Given the description of an element on the screen output the (x, y) to click on. 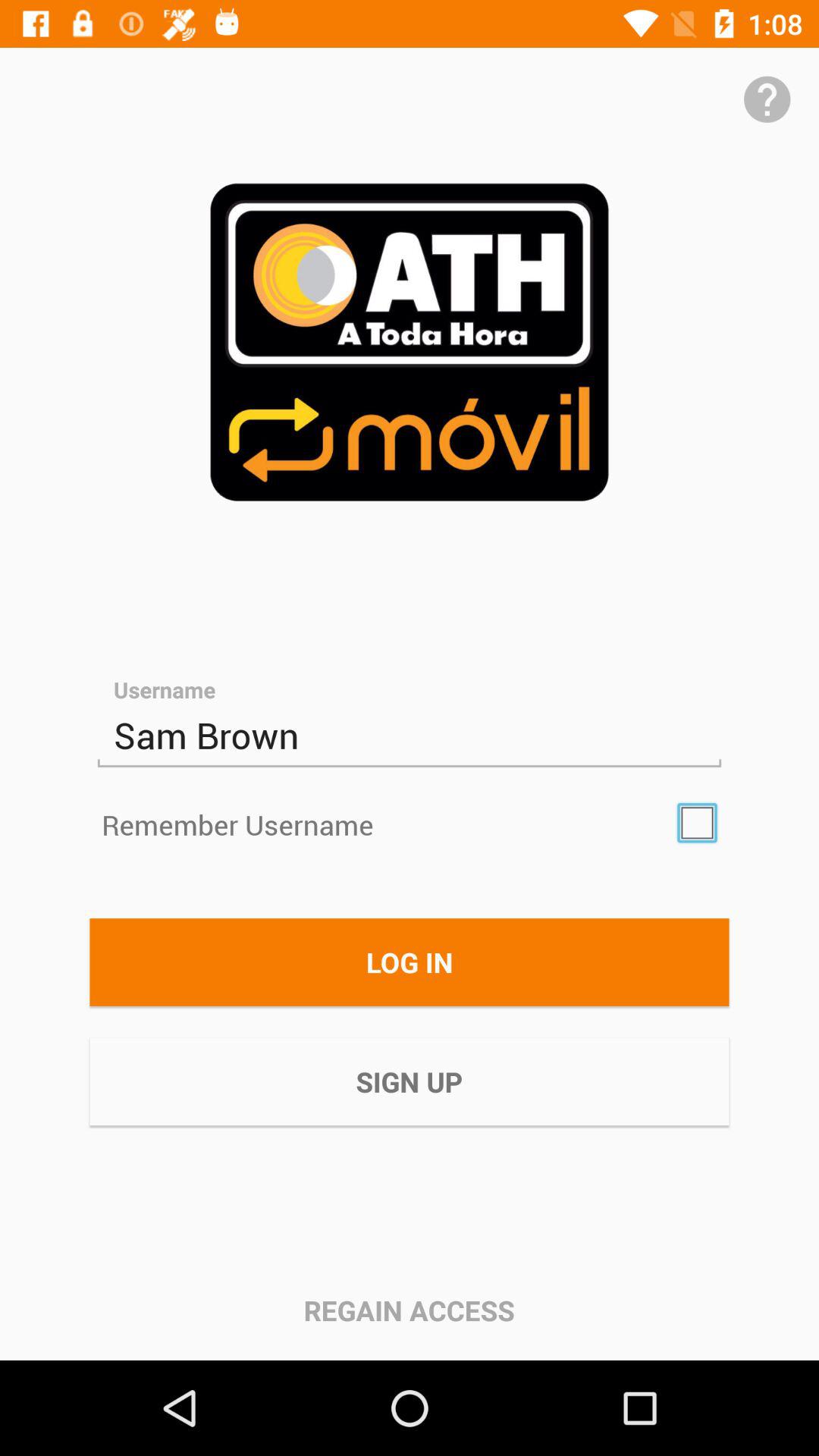
swipe until the sign up icon (409, 1081)
